Given the description of an element on the screen output the (x, y) to click on. 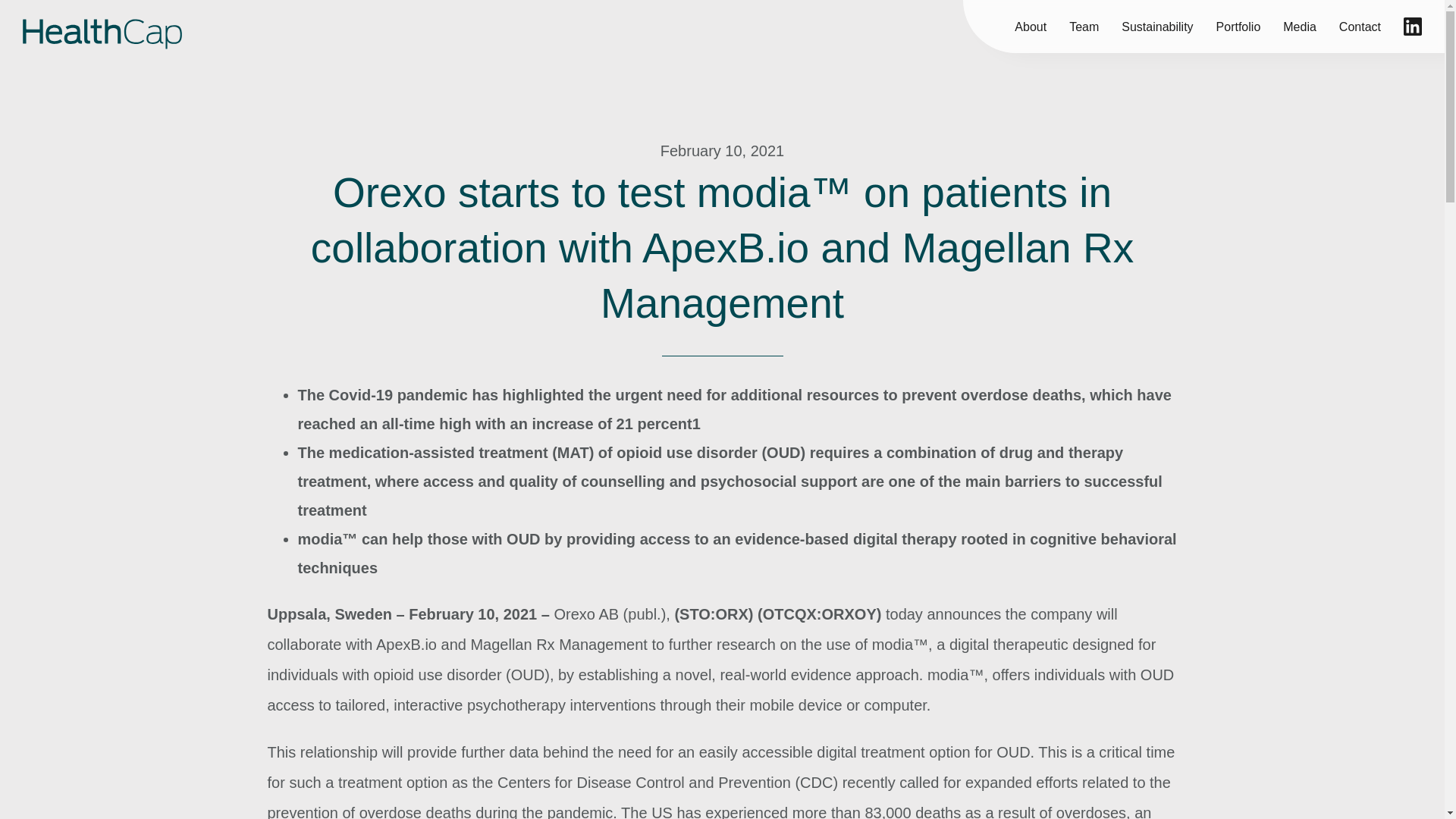
Team (1083, 25)
Media (1299, 25)
Sustainability (1156, 25)
Contact (1359, 25)
About (1030, 25)
Portfolio (1237, 25)
